Given the description of an element on the screen output the (x, y) to click on. 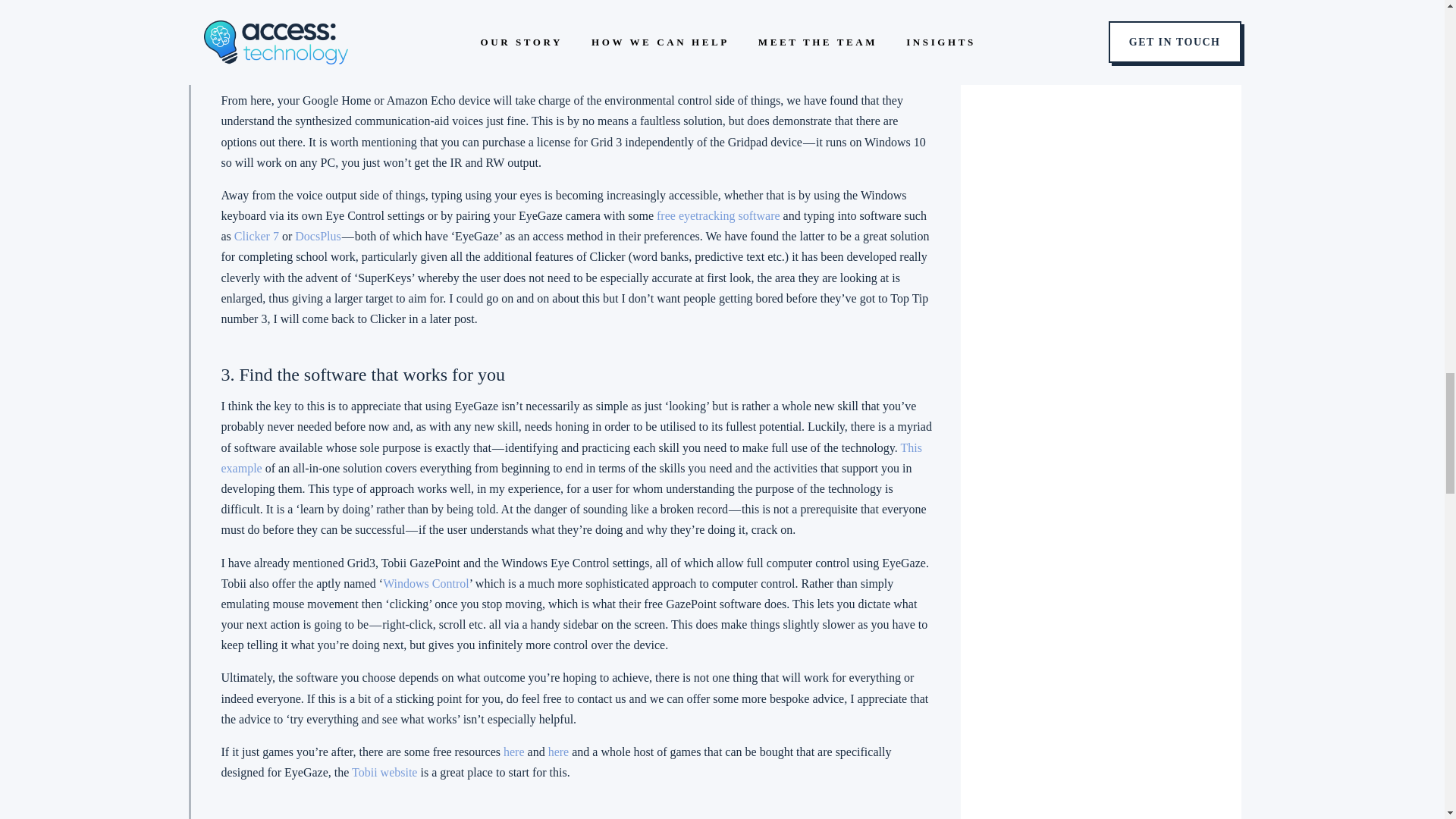
here (513, 751)
This example (571, 458)
 Clicker 7 (255, 236)
Windows Control (425, 583)
DocsPlus (317, 236)
their own Eye Control settings (767, 47)
tand alone eye tracker (577, 26)
free eyetracking software (718, 215)
Tobii website (384, 771)
here (558, 751)
